Given the description of an element on the screen output the (x, y) to click on. 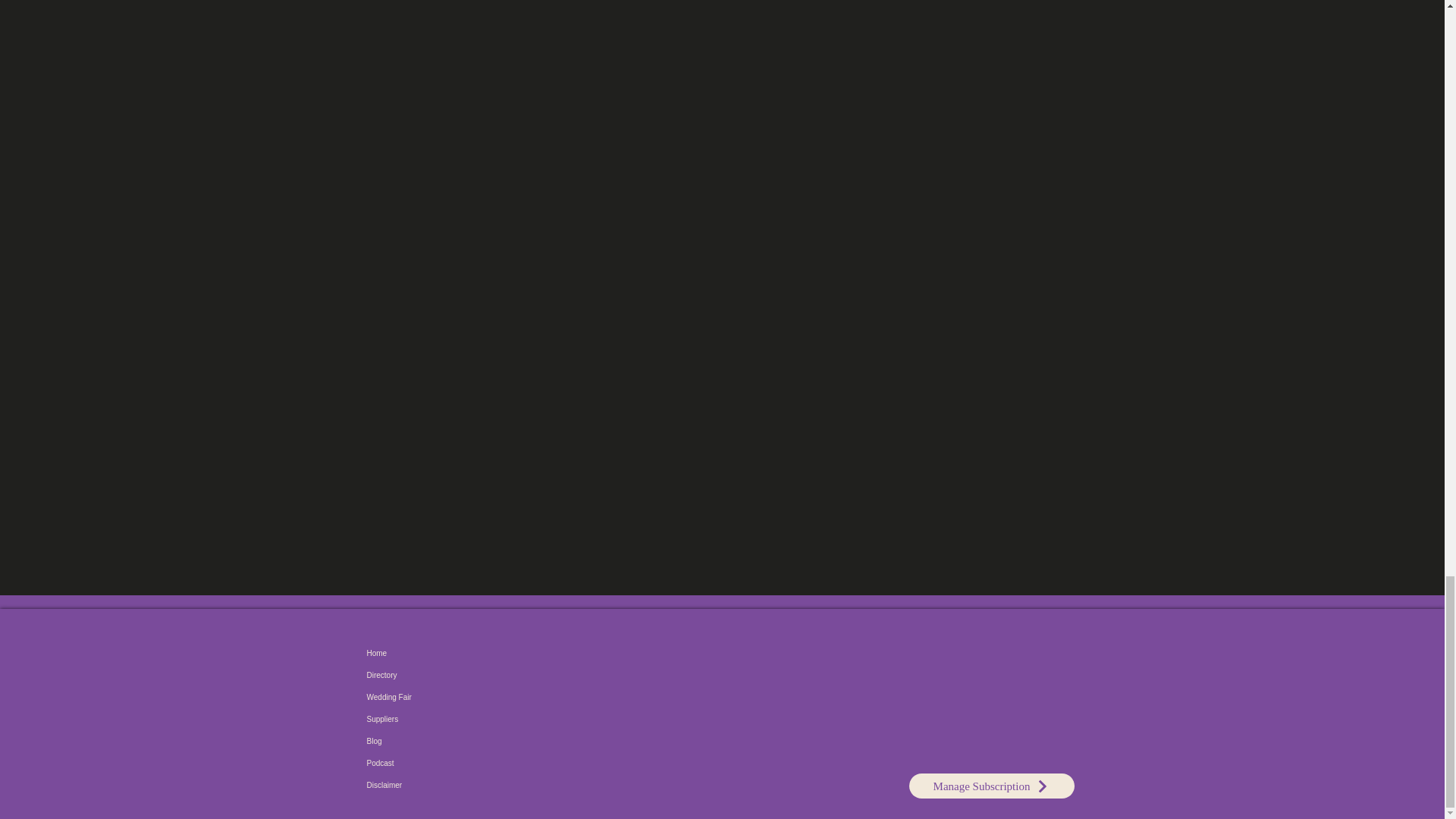
Directory (496, 675)
Podcast (496, 762)
Manage Subscription (991, 785)
Disclaimer (496, 784)
Wedding Fair (496, 697)
Blog (496, 741)
Home (496, 653)
